Given the description of an element on the screen output the (x, y) to click on. 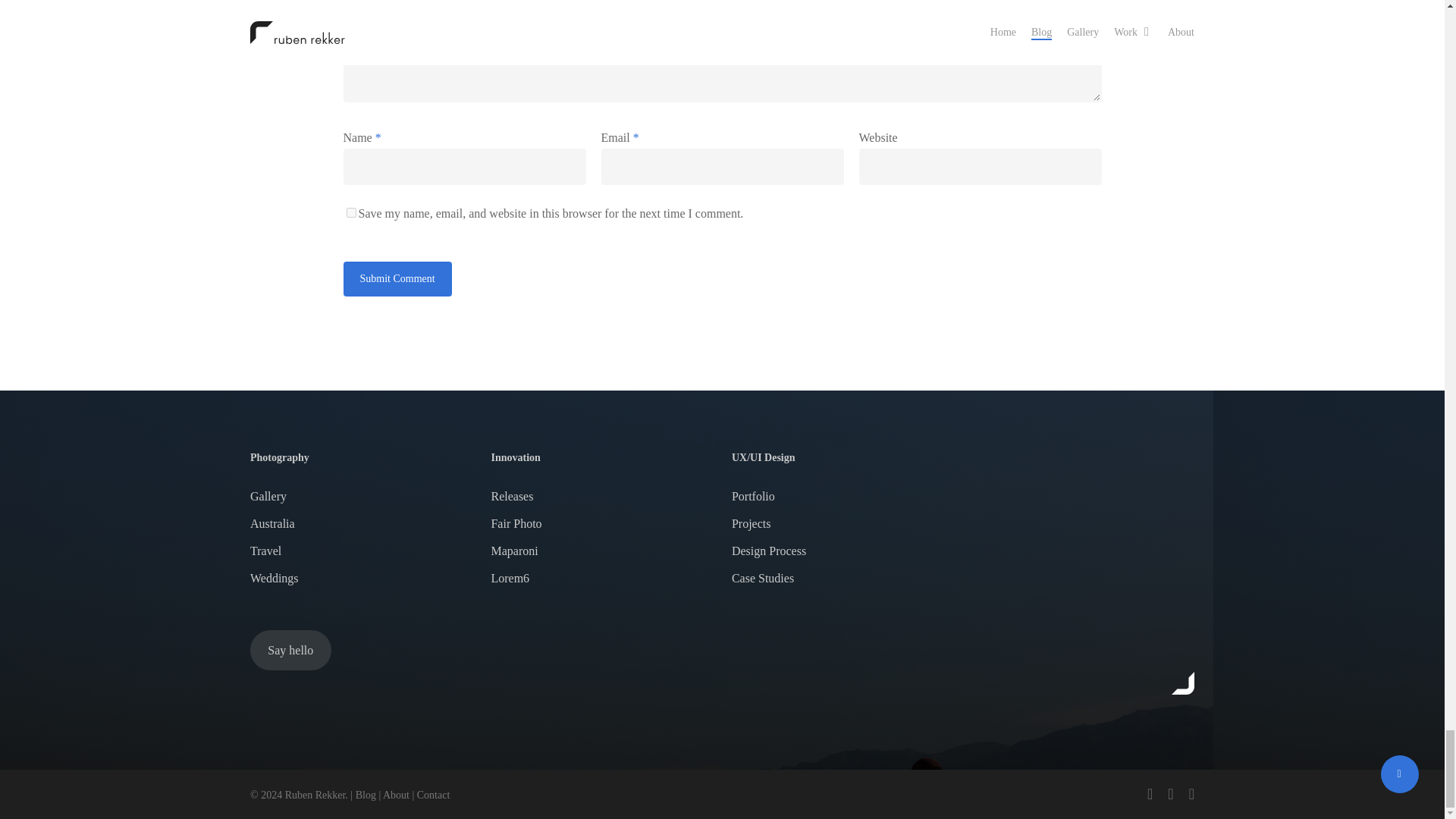
yes (350, 212)
Photography (360, 457)
Submit Comment (396, 278)
Gallery (360, 496)
Submit Comment (396, 278)
